Given the description of an element on the screen output the (x, y) to click on. 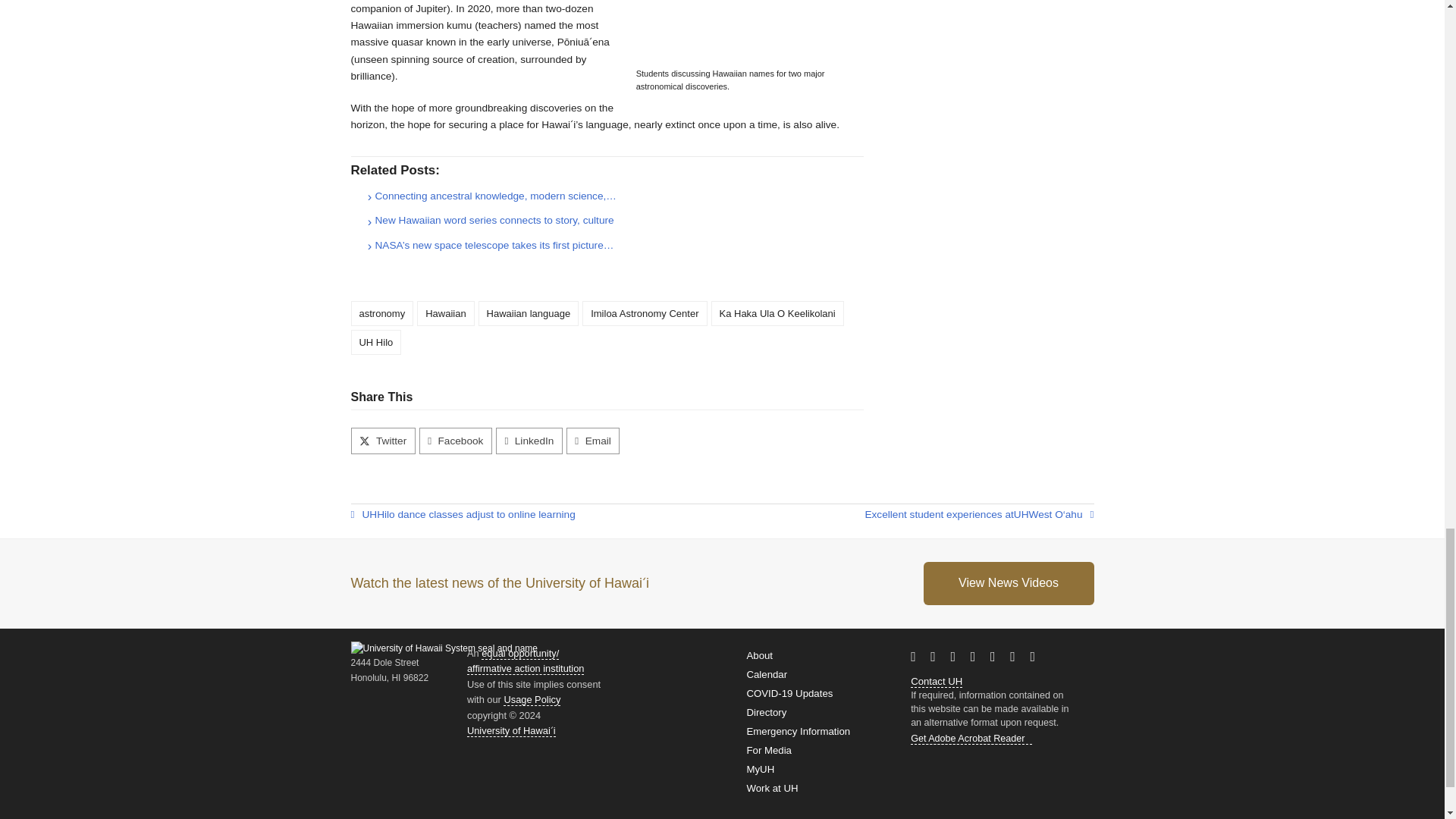
UH System home (511, 730)
University of Hawaii (954, 681)
University of Hawaii (1021, 514)
University of Hawaii (369, 514)
